Given the description of an element on the screen output the (x, y) to click on. 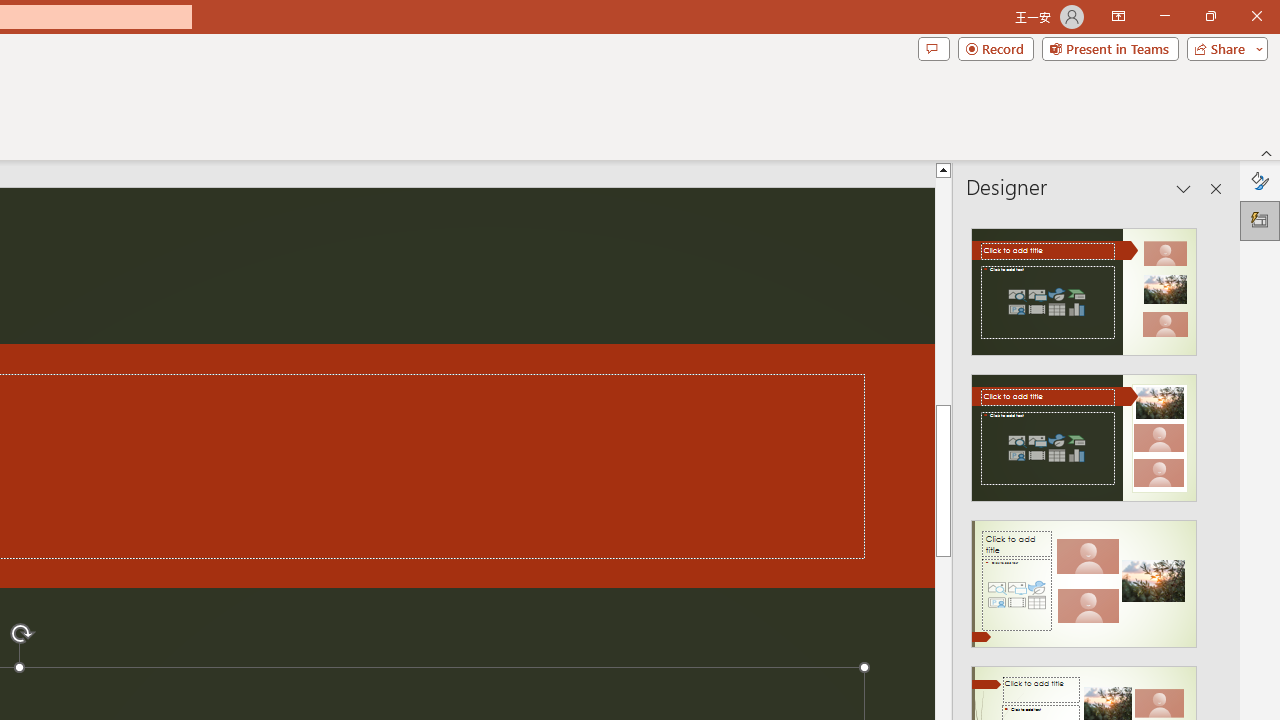
Recommended Design: Design Idea (1083, 286)
Page up (943, 372)
Format Background (1260, 180)
